Given the description of an element on the screen output the (x, y) to click on. 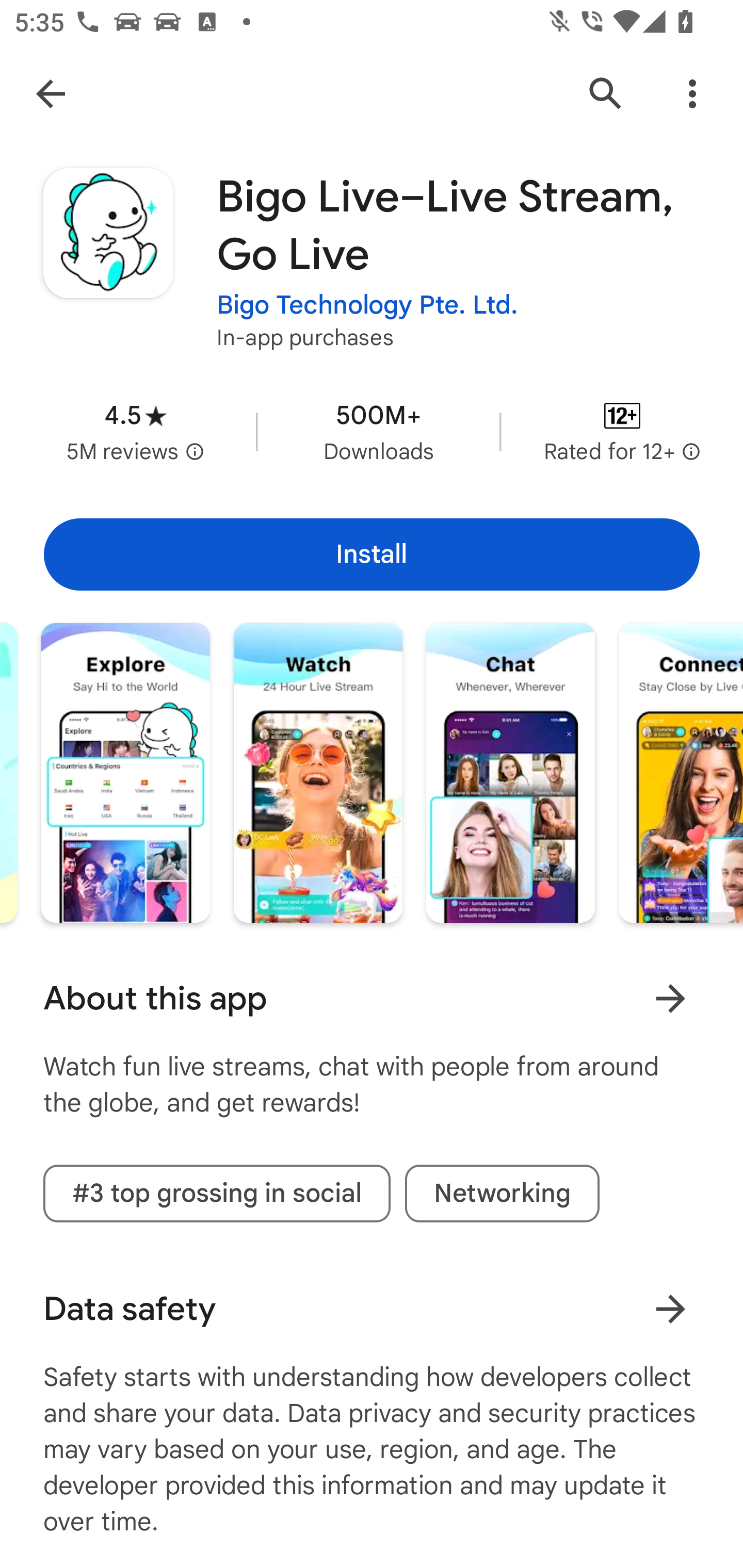
Navigate up (50, 93)
Search Google Play (605, 93)
More Options (692, 93)
Bigo Technology Pte. Ltd. (367, 304)
Average rating 4.5 stars in 5 million reviews (135, 431)
Content rating Rated for 12+ (622, 431)
Install (371, 554)
Screenshot "1" of "8" (125, 771)
Screenshot "2" of "8" (318, 771)
Screenshot "3" of "8" (510, 771)
Screenshot "4" of "8" (680, 771)
About this app Learn more About this app (371, 998)
Learn more About this app (670, 997)
#3 top grossing in social tag (216, 1193)
Networking tag (501, 1193)
Data safety Learn more about data safety (371, 1309)
Learn more about data safety (670, 1308)
